Given the description of an element on the screen output the (x, y) to click on. 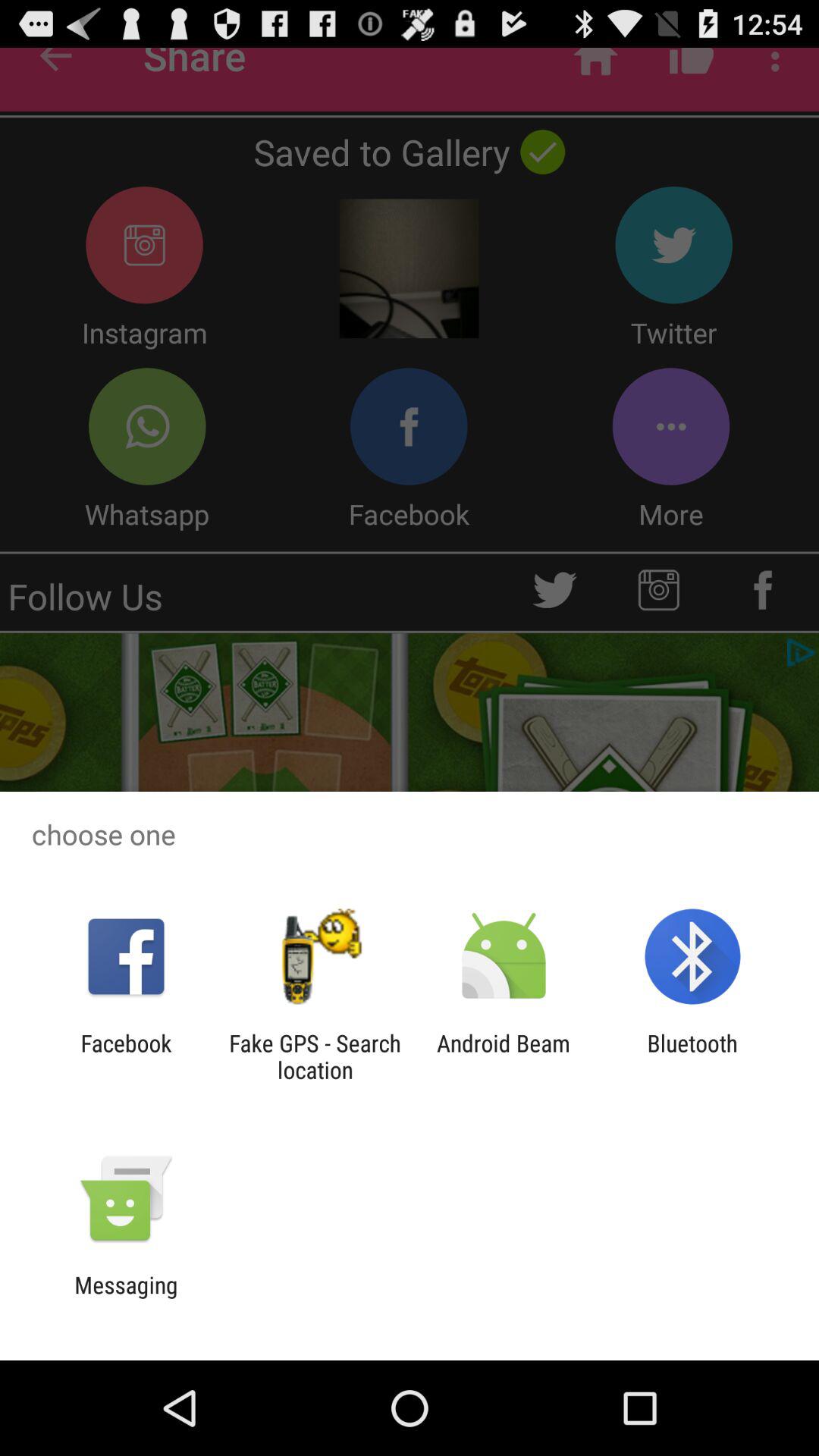
tap the item to the left of the android beam (314, 1056)
